Given the description of an element on the screen output the (x, y) to click on. 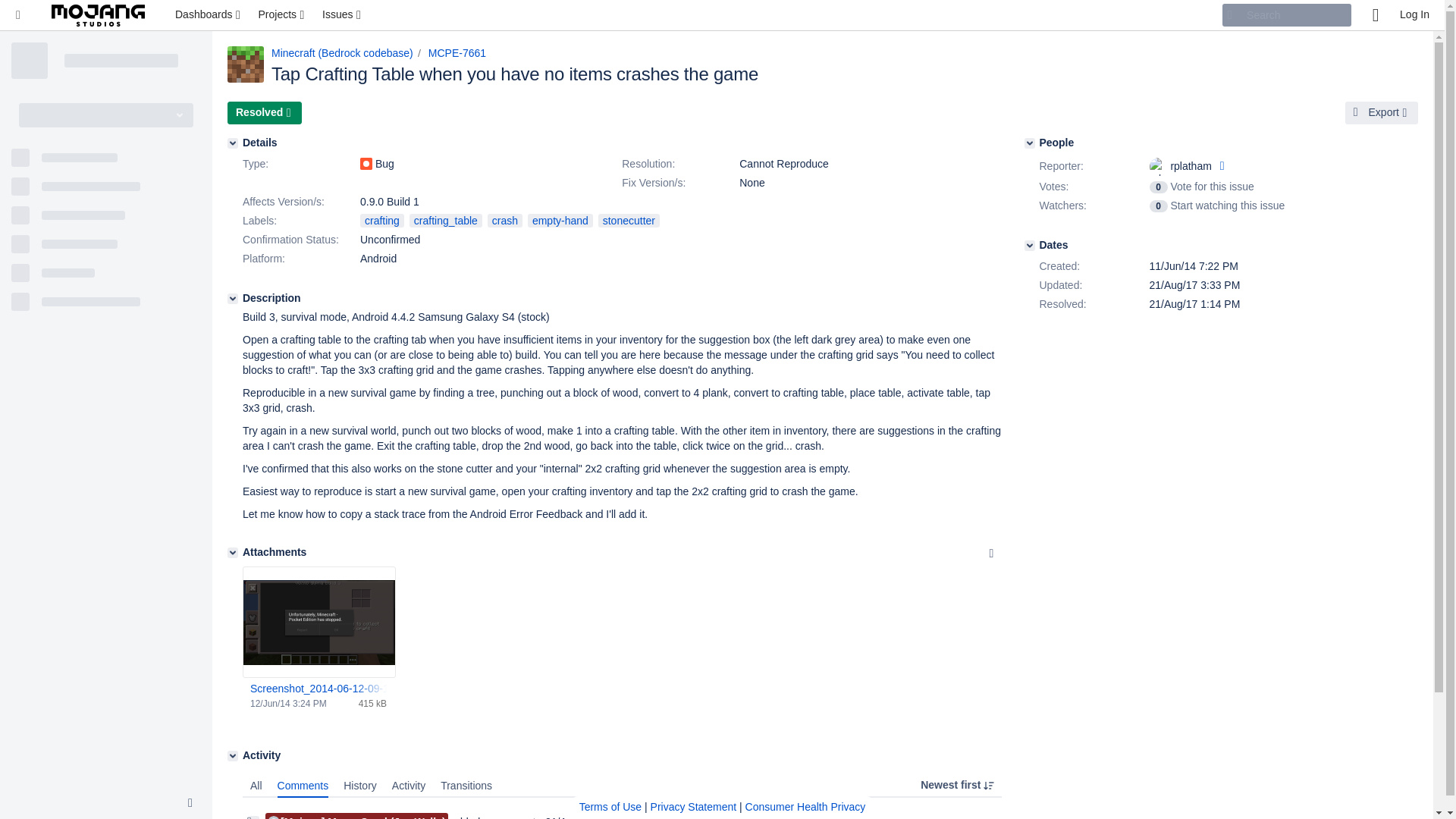
Export (1381, 112)
Resolution (678, 164)
Dashboards (208, 15)
Help (1374, 15)
crafting (381, 220)
Terms of Use (610, 806)
Issues (342, 15)
View and manage your dashboards (208, 15)
Resolved (264, 112)
Consumer Health Privacy (805, 806)
